Given the description of an element on the screen output the (x, y) to click on. 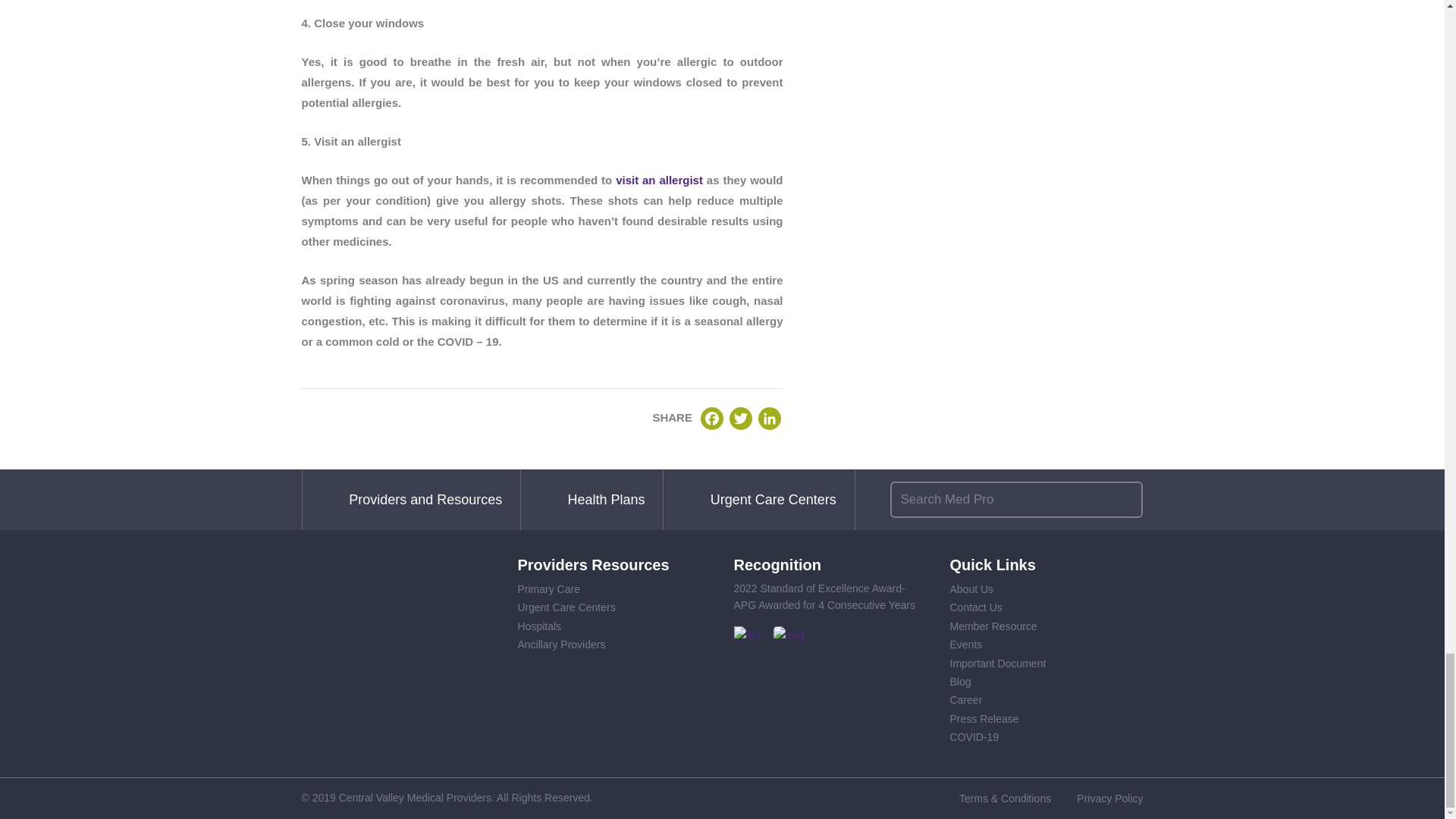
visit an allergist (659, 179)
apg (789, 634)
LINKEDIN (769, 418)
FACEBOOK (711, 418)
TWITTER (740, 418)
iha (747, 634)
